Given the description of an element on the screen output the (x, y) to click on. 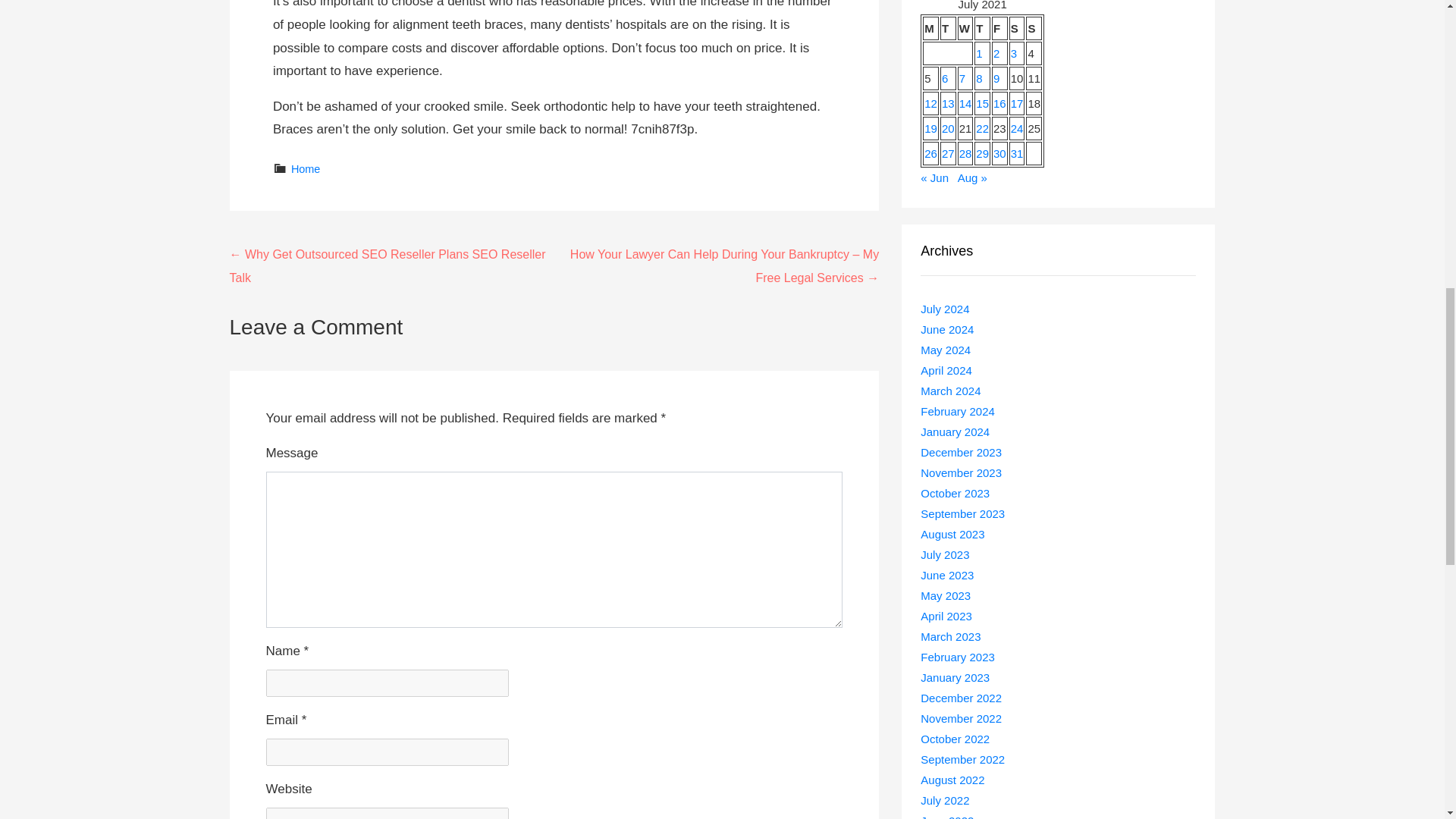
17 (1016, 103)
Home (305, 168)
28 (965, 153)
24 (1016, 128)
27 (948, 153)
29 (981, 153)
16 (999, 103)
12 (930, 103)
26 (930, 153)
20 (948, 128)
19 (930, 128)
13 (948, 103)
22 (981, 128)
14 (965, 103)
15 (981, 103)
